Given the description of an element on the screen output the (x, y) to click on. 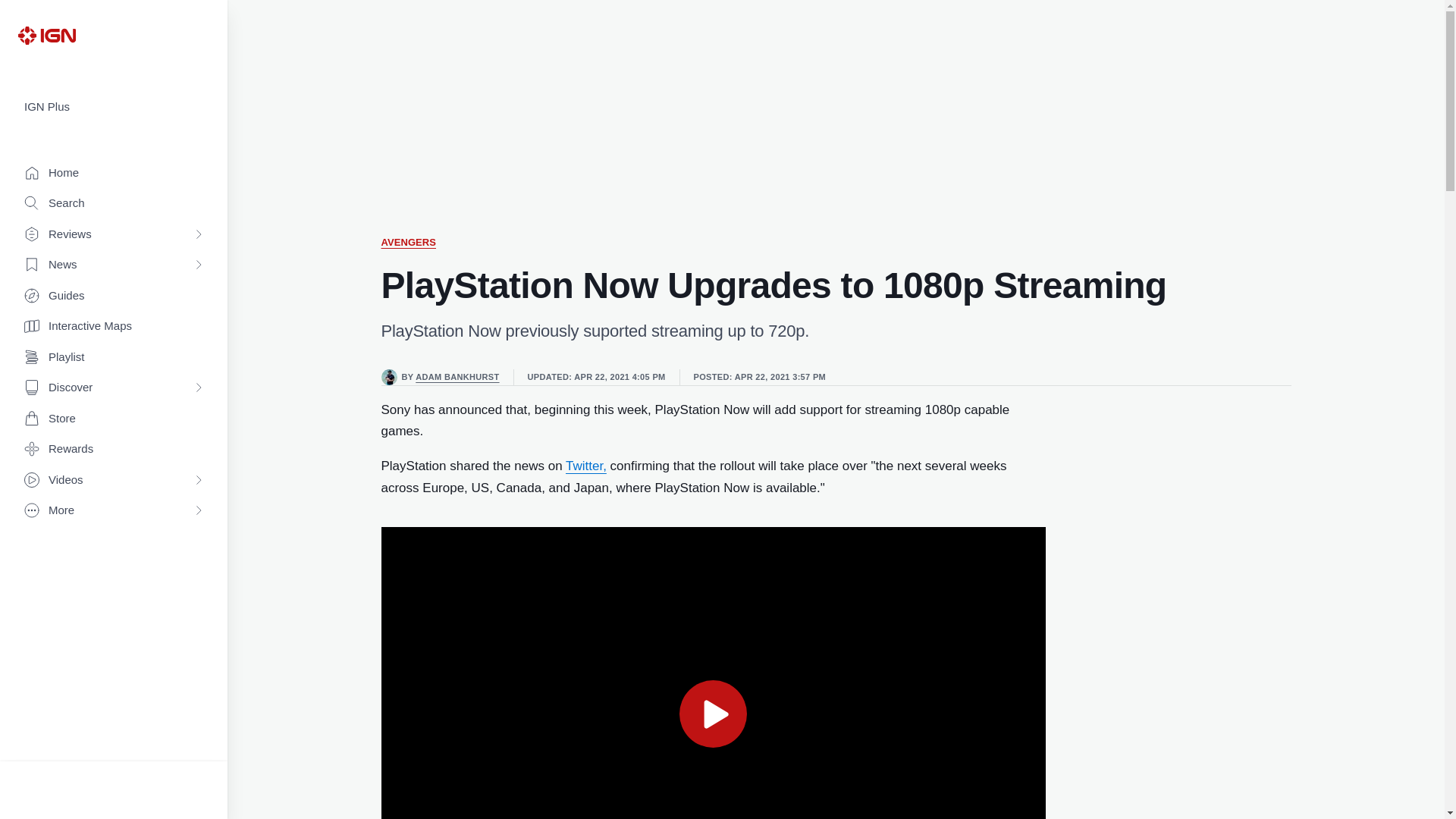
Playlist (113, 357)
IGN Plus (113, 107)
Guides (113, 295)
IGN Logo (46, 34)
Interactive Maps (113, 326)
Search (113, 203)
News (113, 265)
Home (113, 172)
Guides (113, 295)
Store (113, 418)
Videos (113, 480)
Discover (113, 387)
Reviews (113, 234)
IGN (46, 35)
News (113, 265)
